Given the description of an element on the screen output the (x, y) to click on. 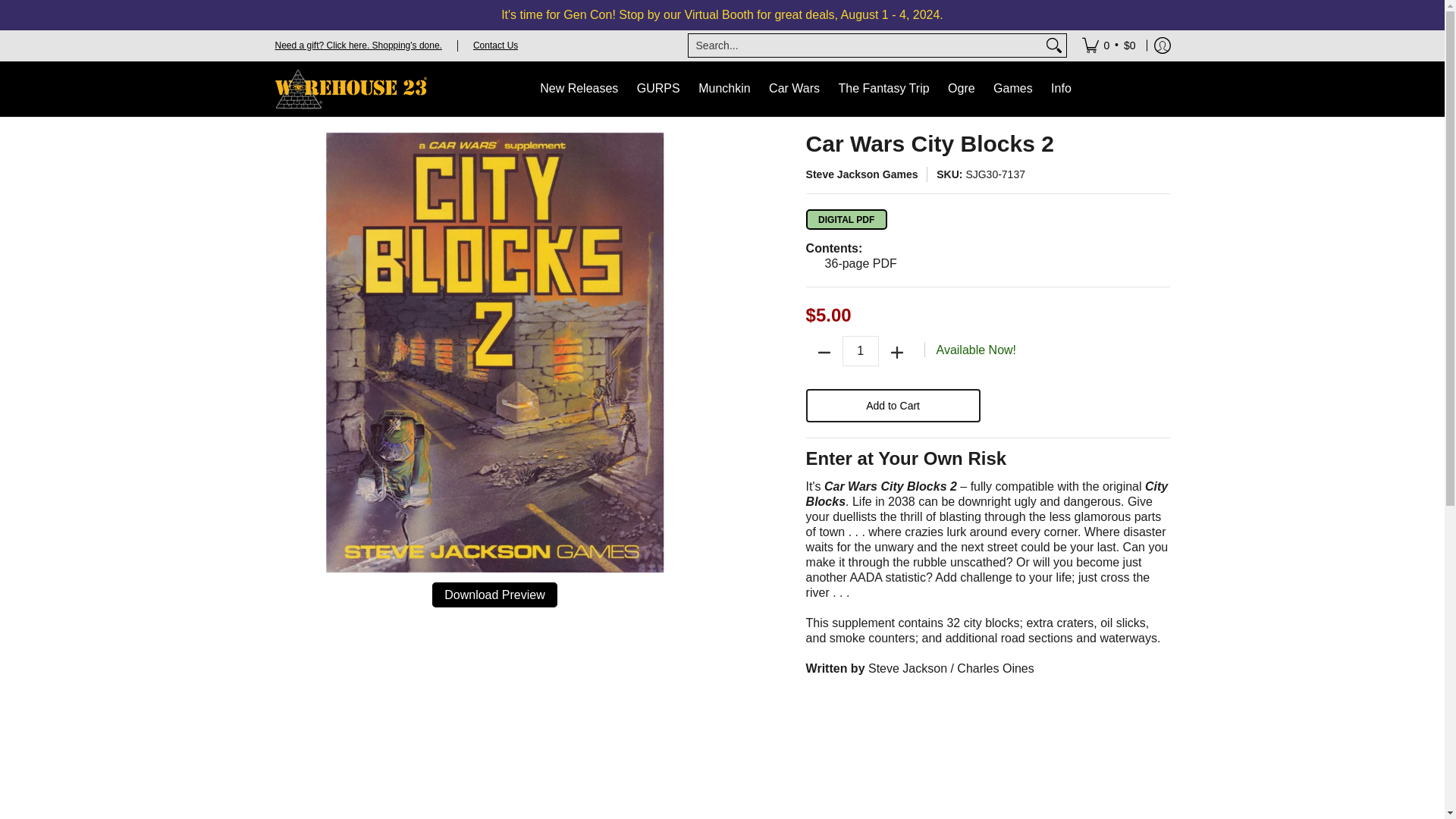
Log in (1161, 45)
Games (1013, 89)
Munchkin (723, 89)
The Fantasy Trip (884, 89)
Munchkin (723, 89)
Need a gift? Click here. Shopping's done. (358, 44)
Warehouse 23 Gift Certificate (358, 44)
Cart (1108, 45)
The Fantasy Trip (884, 89)
